Given the description of an element on the screen output the (x, y) to click on. 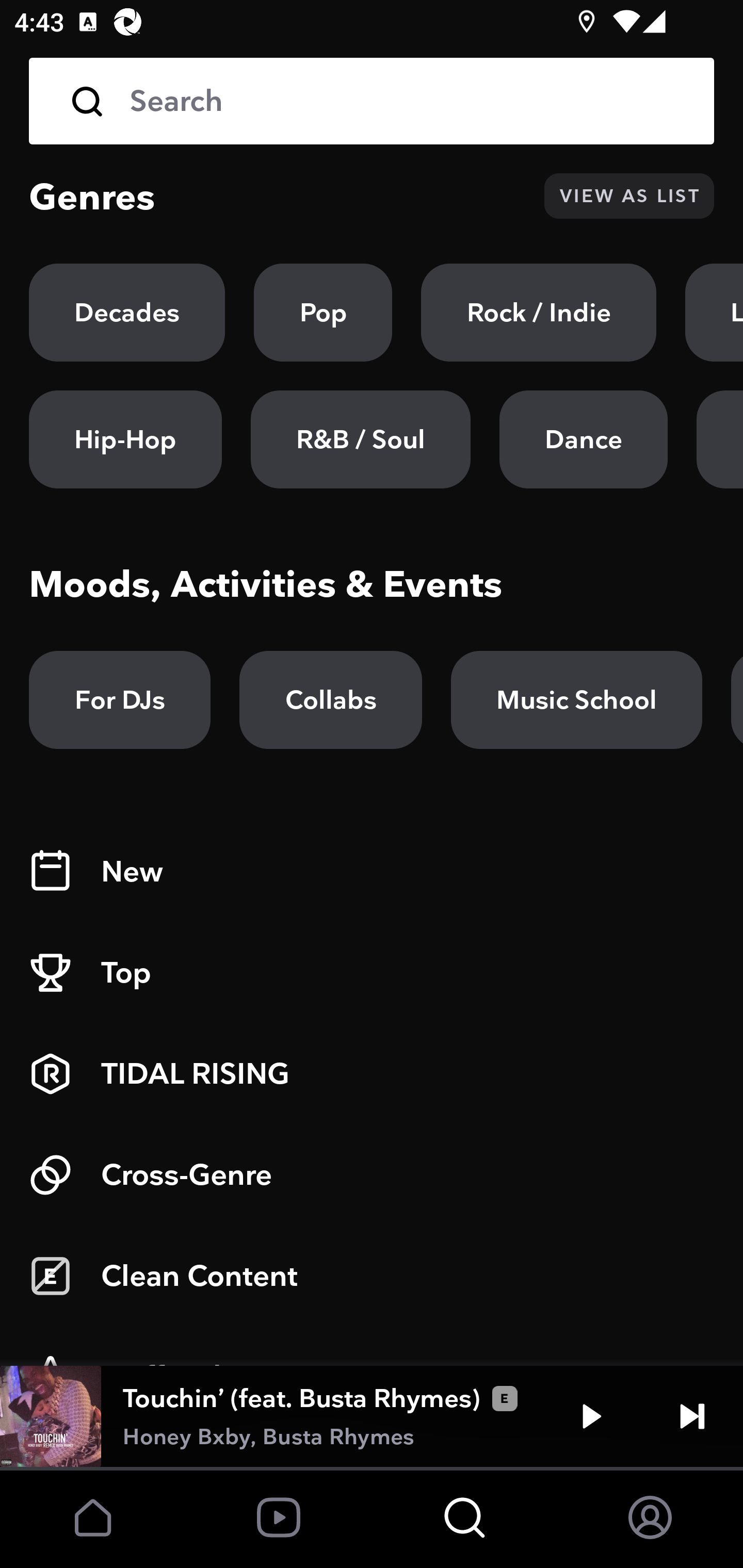
Search (371, 101)
Search (407, 100)
VIEW AS LIST (629, 195)
Decades (126, 312)
Pop (323, 312)
Rock / Indie (538, 312)
Hip-Hop (125, 439)
R&B / Soul (360, 439)
Dance (583, 439)
For DJs (119, 699)
Collabs (330, 699)
Music School (576, 699)
New (371, 871)
Top (371, 972)
TIDAL RISING (371, 1073)
Cross-Genre (371, 1175)
Clean Content (371, 1276)
Play (590, 1416)
